Given the description of an element on the screen output the (x, y) to click on. 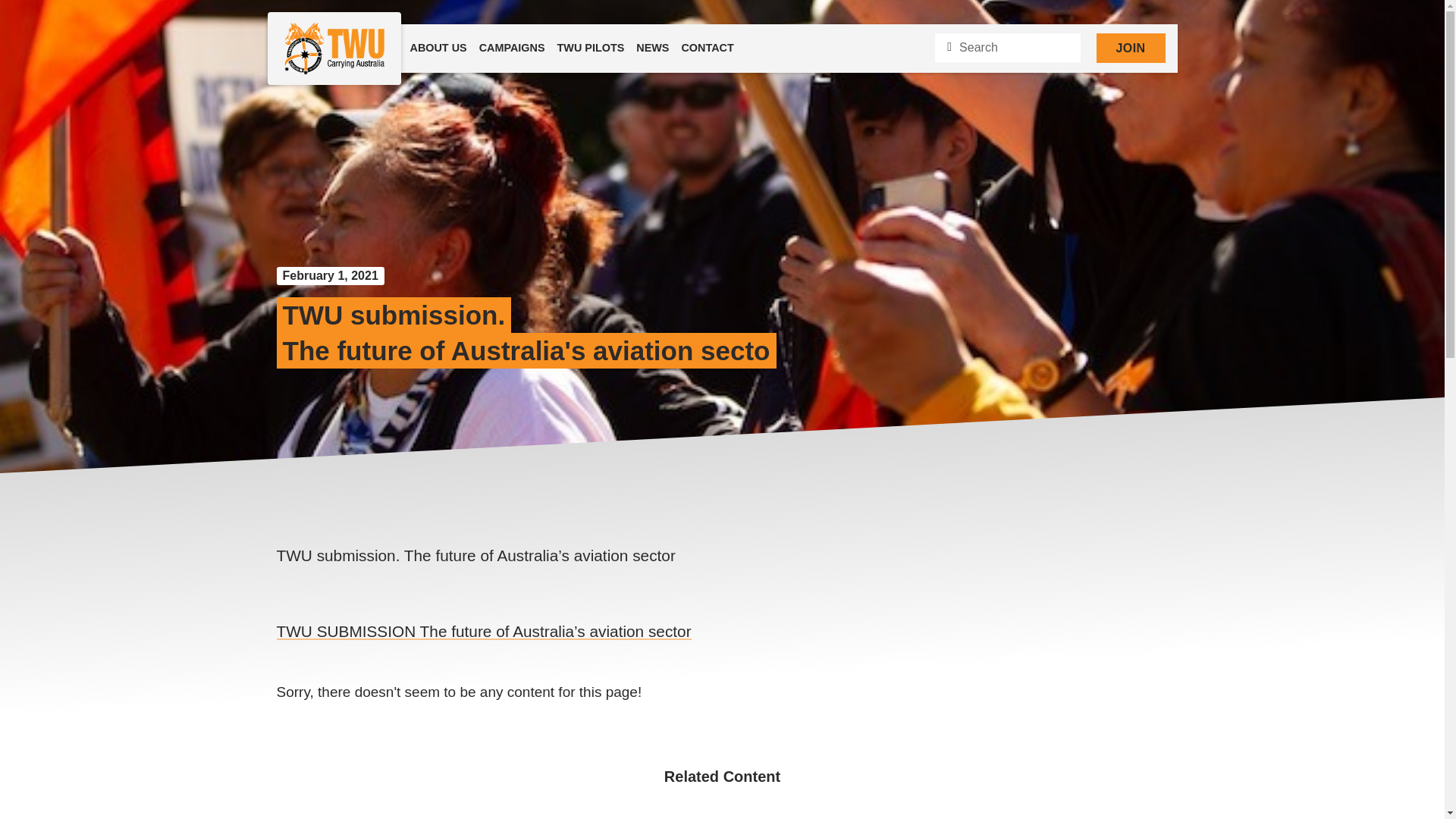
JOIN (1131, 48)
TWU PILOTS (590, 48)
NEWS (652, 48)
CONTACT (707, 48)
ABOUT US (437, 48)
CAMPAIGNS (512, 48)
